Given the description of an element on the screen output the (x, y) to click on. 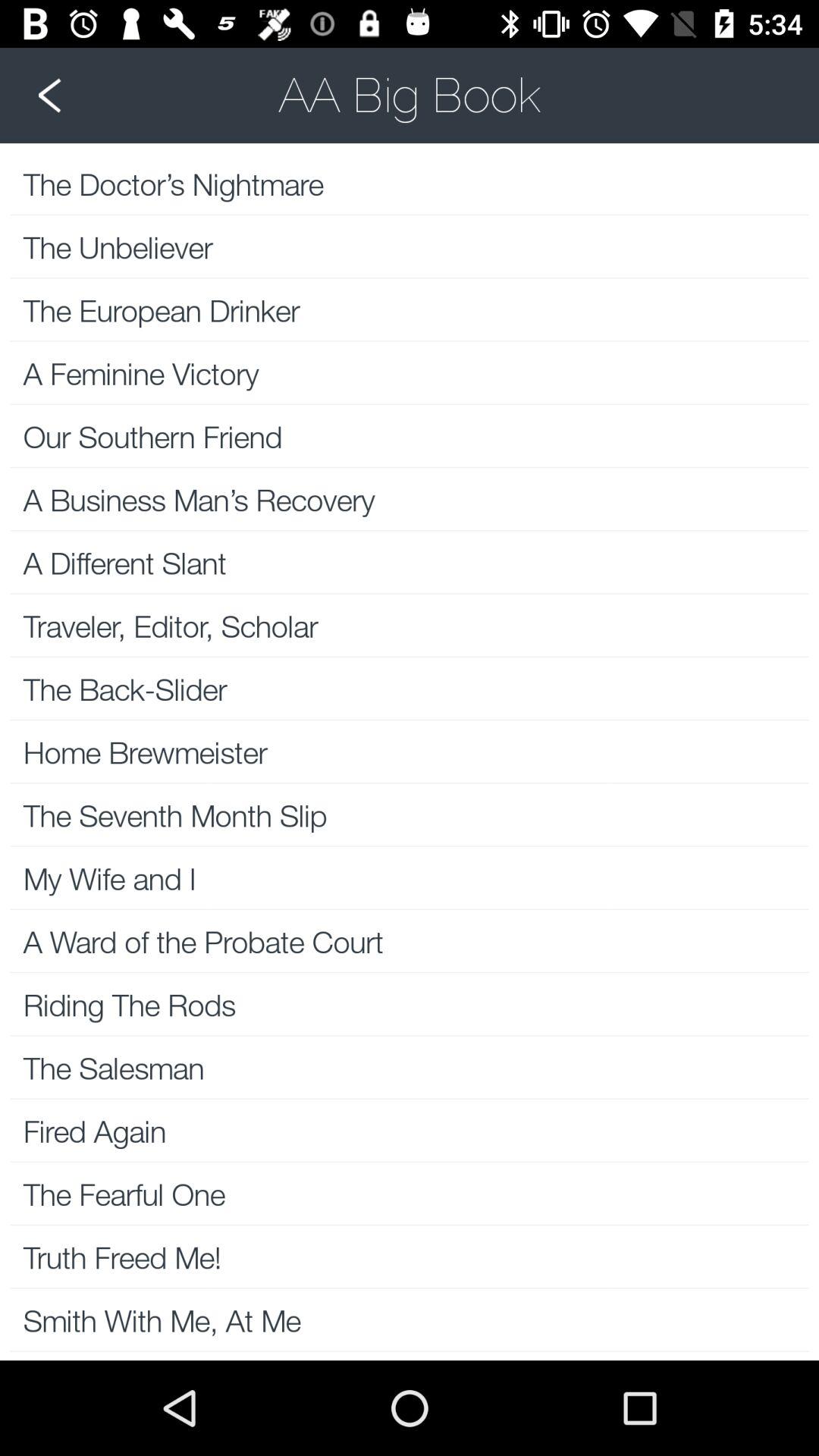
header box with go back page (409, 95)
